Given the description of an element on the screen output the (x, y) to click on. 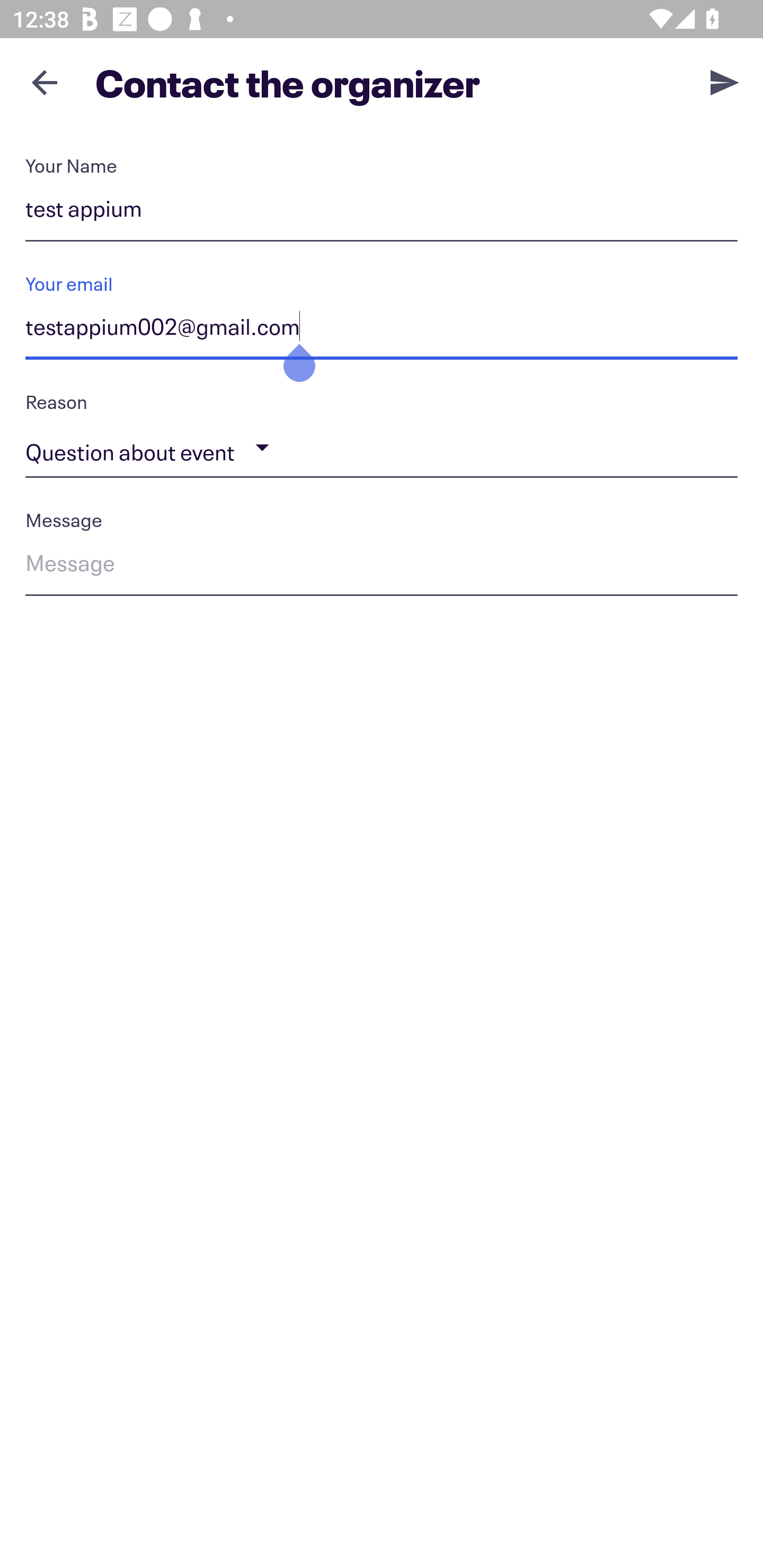
Navigate up (44, 82)
Send (724, 81)
test appium (381, 211)
testappium002@gmail.com (381, 329)
Question about event    (381, 447)
Message (381, 565)
